Given the description of an element on the screen output the (x, y) to click on. 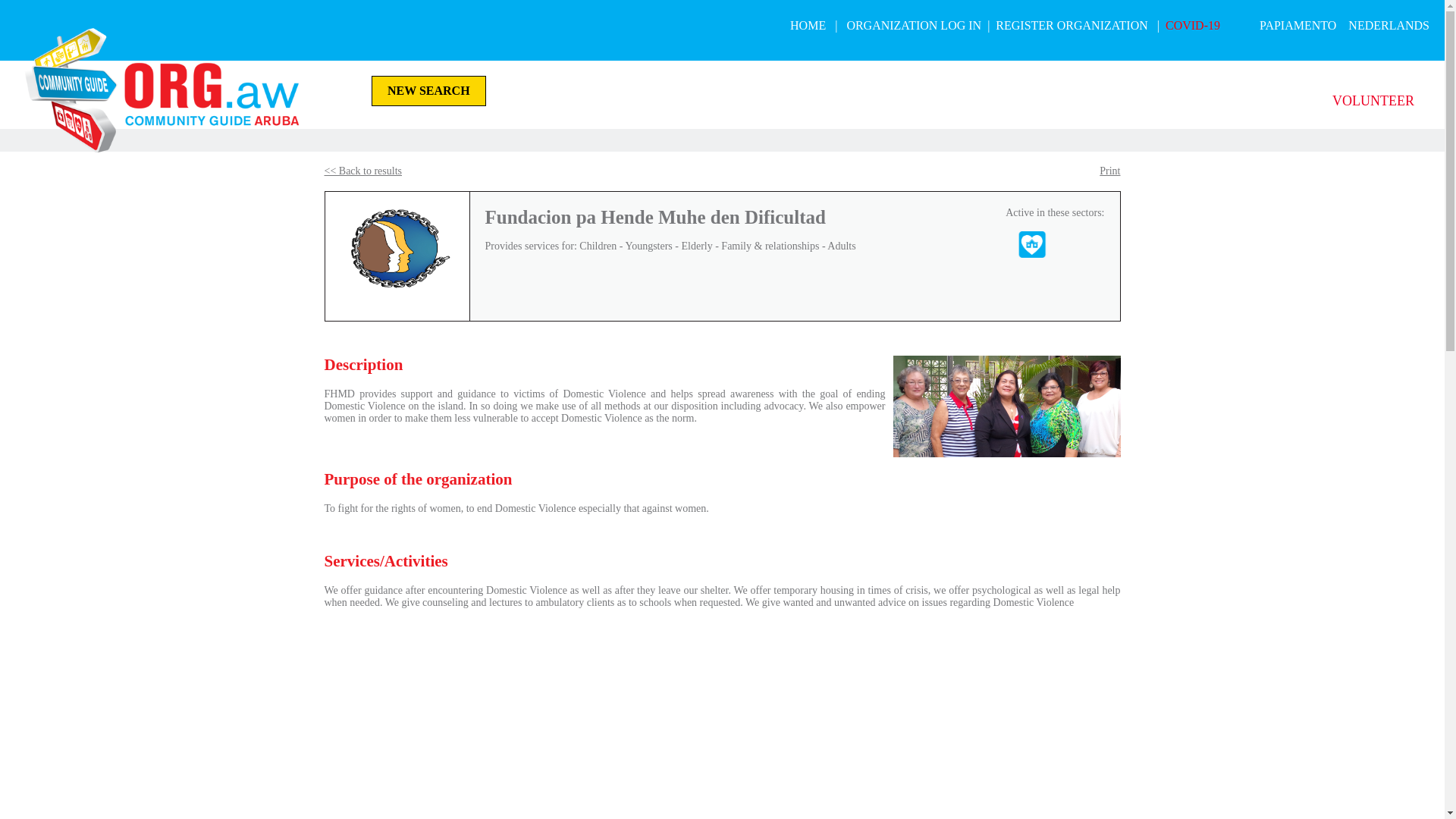
VOLUNTEER Element type: text (1373, 100)
PAPIAMENTO Element type: text (1297, 24)
NEDERLANDS Element type: text (1388, 24)
COVID-19 Element type: text (1192, 24)
<< Back to results Element type: text (363, 171)
ORGANIZATION LOG IN Element type: text (913, 24)
HOME Element type: text (807, 24)
Print Element type: text (1109, 171)
NEW SEARCH Element type: text (428, 90)
REGISTER ORGANIZATION Element type: text (1071, 24)
Social support & housing Element type: hover (1032, 244)
